Given the description of an element on the screen output the (x, y) to click on. 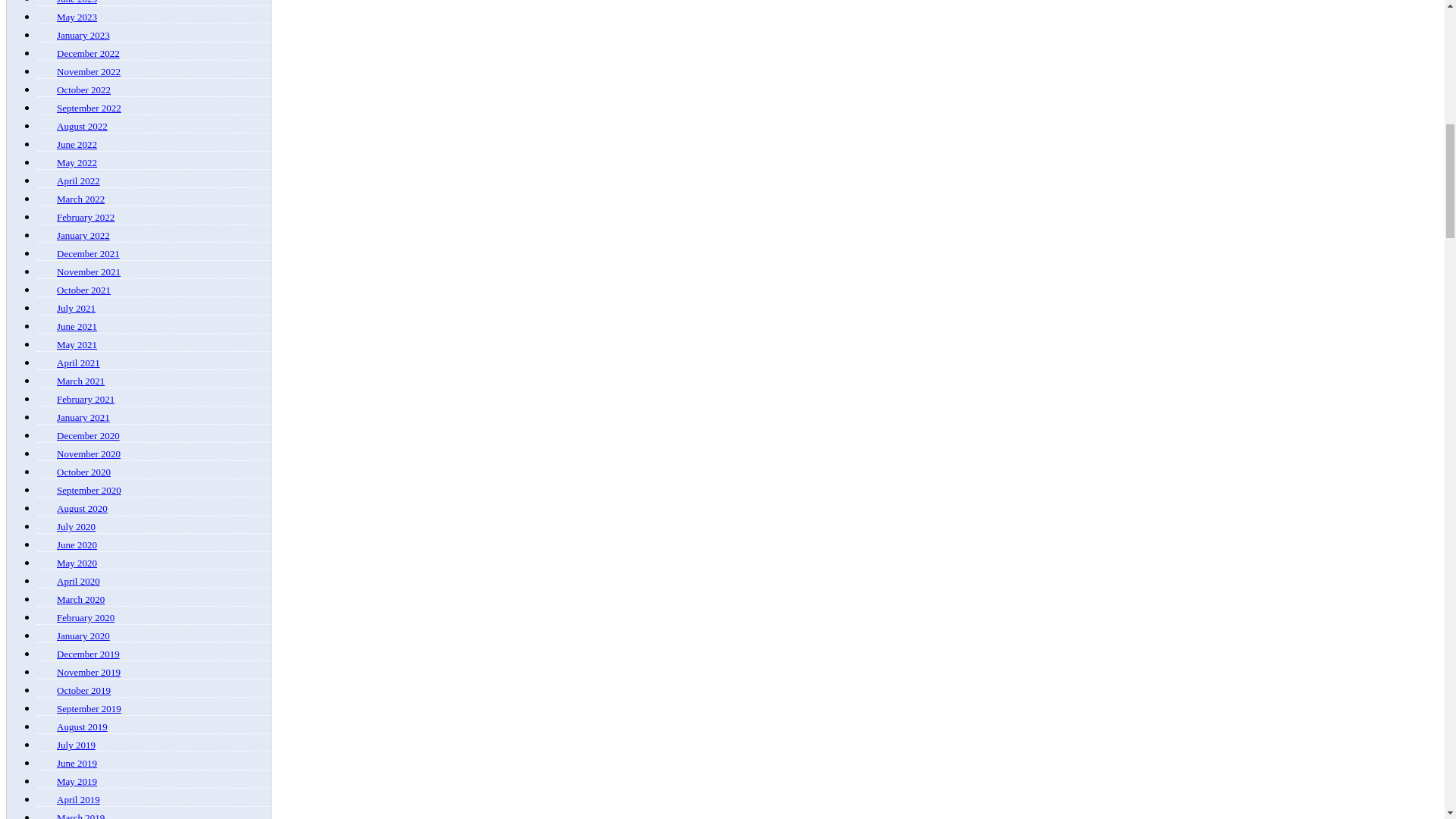
December 2022 (87, 52)
January 2023 (83, 34)
June 2023 (76, 2)
May 2023 (76, 16)
